Given the description of an element on the screen output the (x, y) to click on. 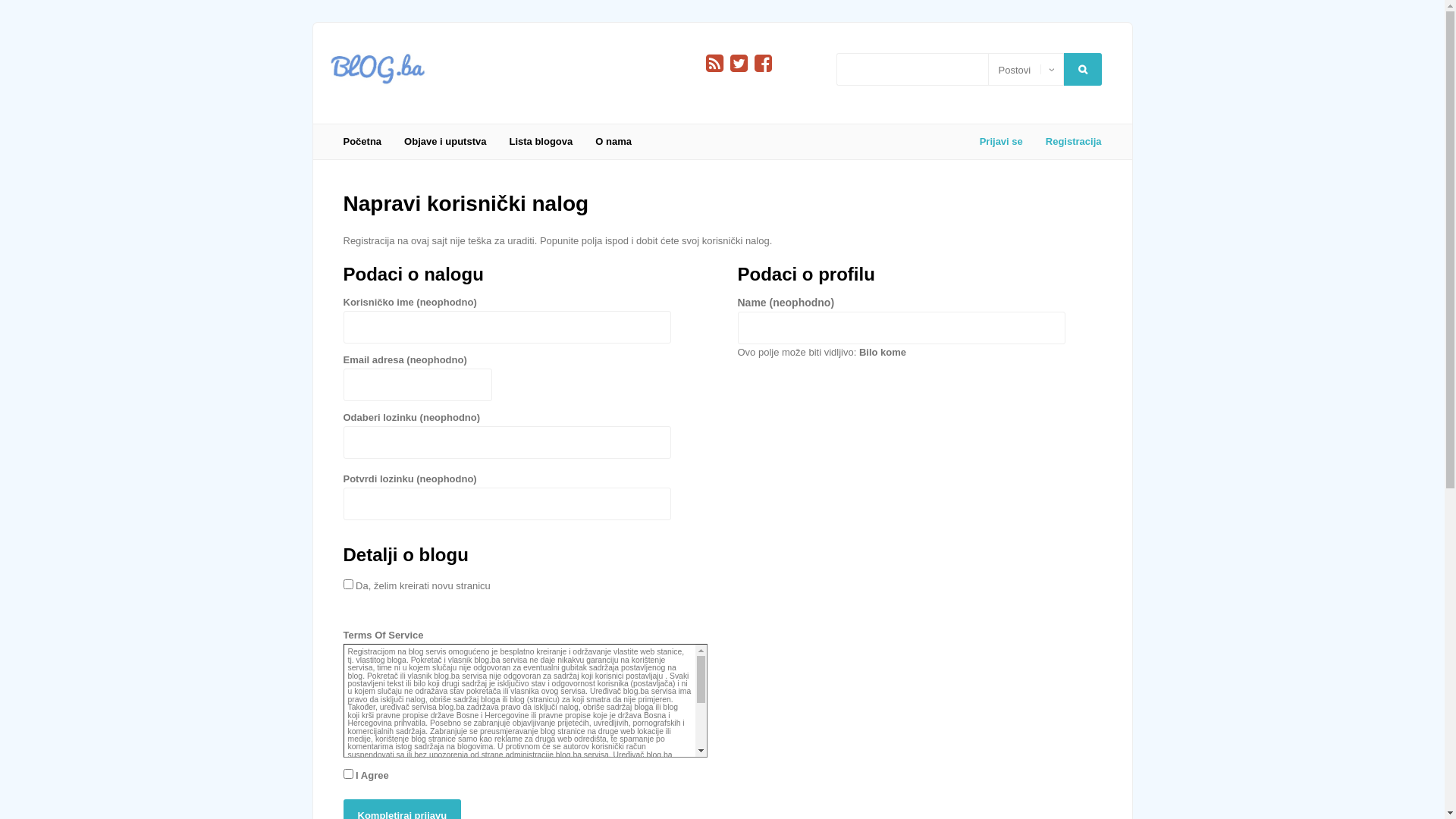
Twitter Element type: hover (738, 63)
O nama Element type: text (613, 141)
creativecommons.org Element type: text (384, 794)
Facebook Element type: hover (762, 63)
Objave i uputstva Element type: text (444, 141)
Registracija Element type: text (1067, 141)
Prijavi se Element type: text (63, 232)
RSS Feed Element type: hover (714, 63)
Prijavi se Element type: text (1001, 141)
Lista blogova Element type: text (540, 141)
